Given the description of an element on the screen output the (x, y) to click on. 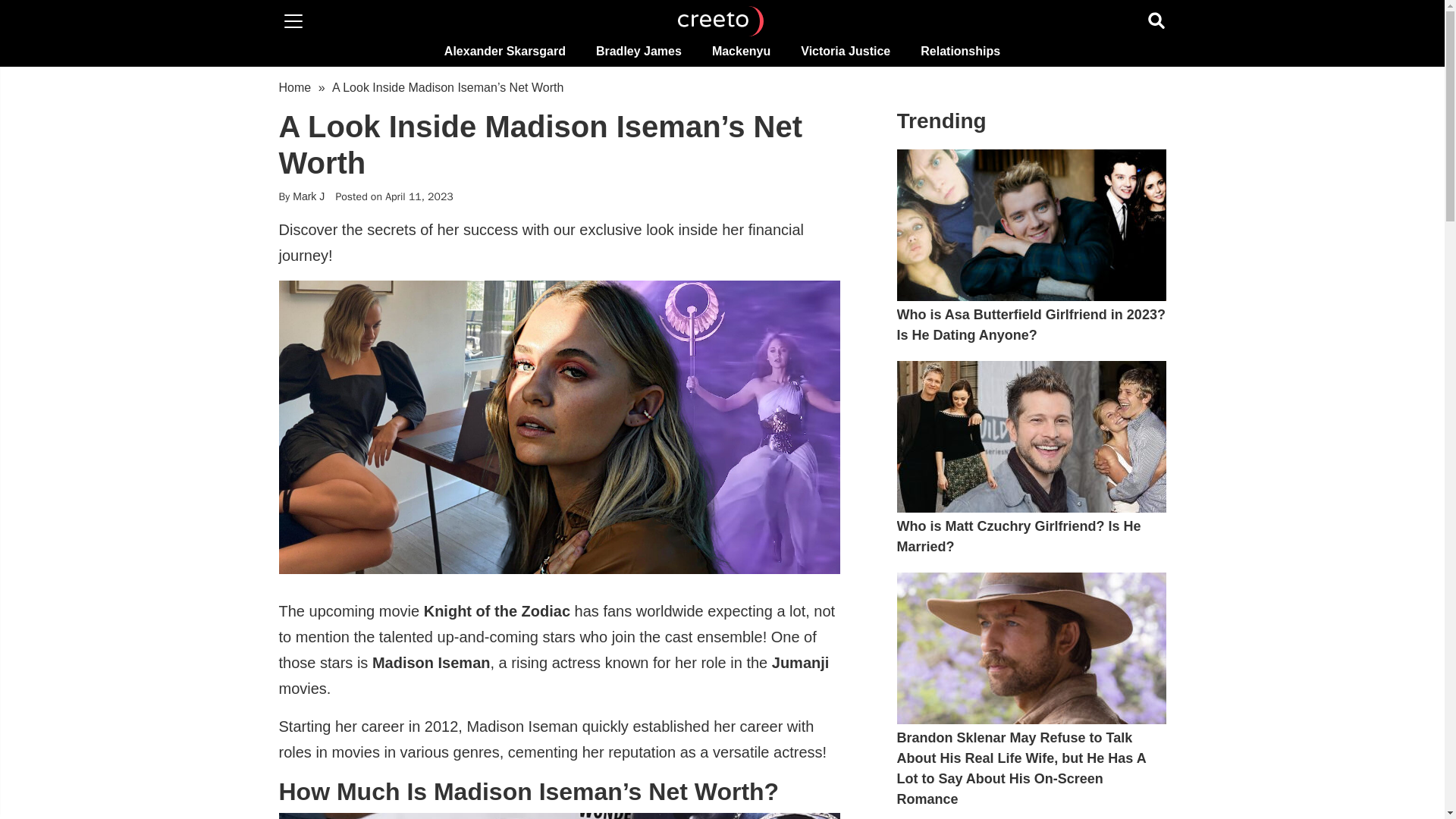
Relationships (959, 51)
Who is Matt Czuchry Girlfriend? Is He Married? (1031, 536)
Victoria Justice (845, 51)
Alexander Skarsgard (504, 51)
Mackenyu (741, 51)
Posts by Mark J (308, 196)
Home (295, 87)
Mark J (308, 196)
